Given the description of an element on the screen output the (x, y) to click on. 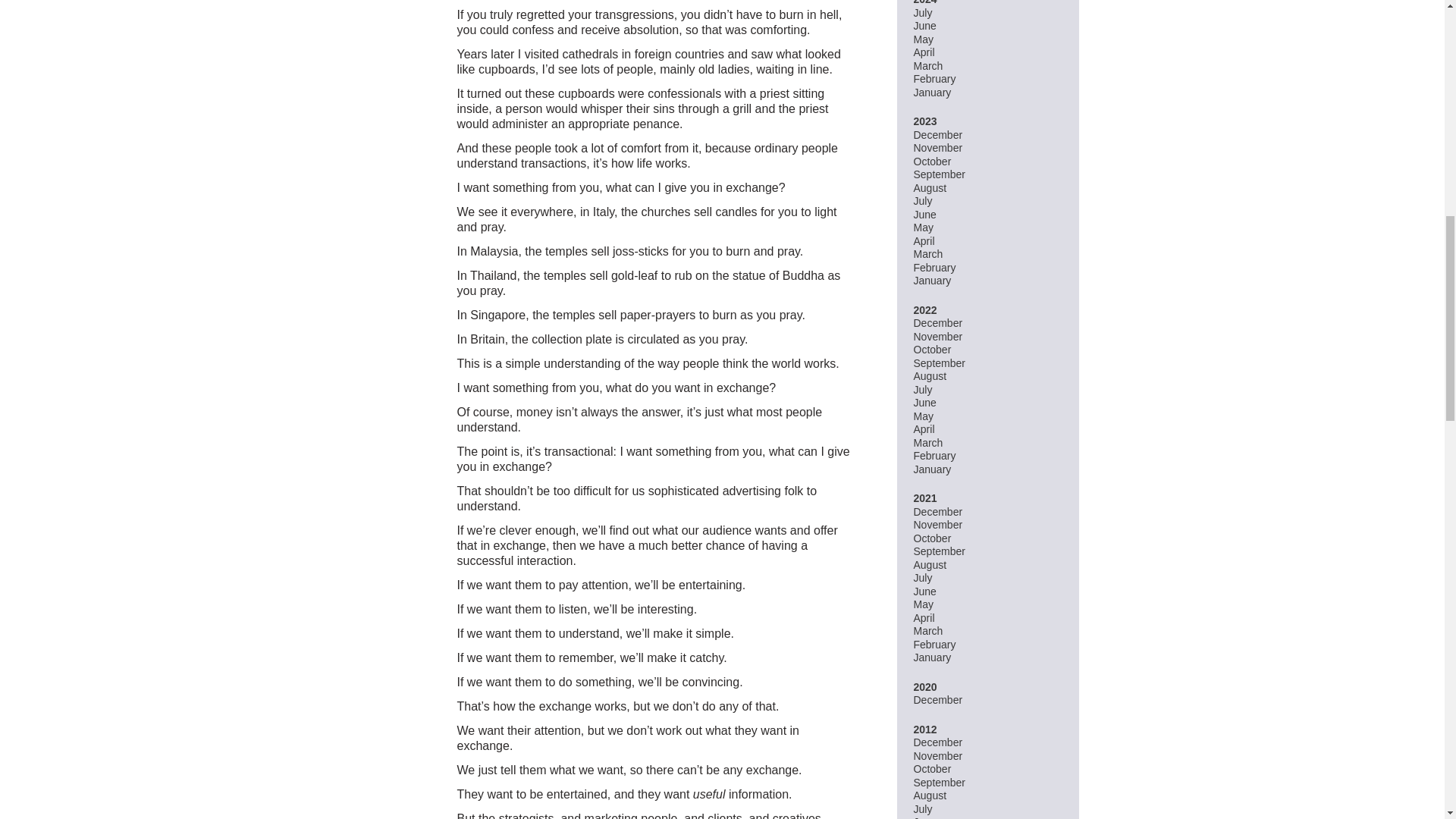
August (929, 187)
January (931, 280)
May (922, 227)
2024 (924, 2)
2022 (924, 309)
February (933, 267)
2023 (924, 121)
November (937, 147)
August (929, 376)
March (927, 65)
December (937, 134)
January (931, 92)
December (937, 322)
November (937, 336)
June (924, 25)
